Given the description of an element on the screen output the (x, y) to click on. 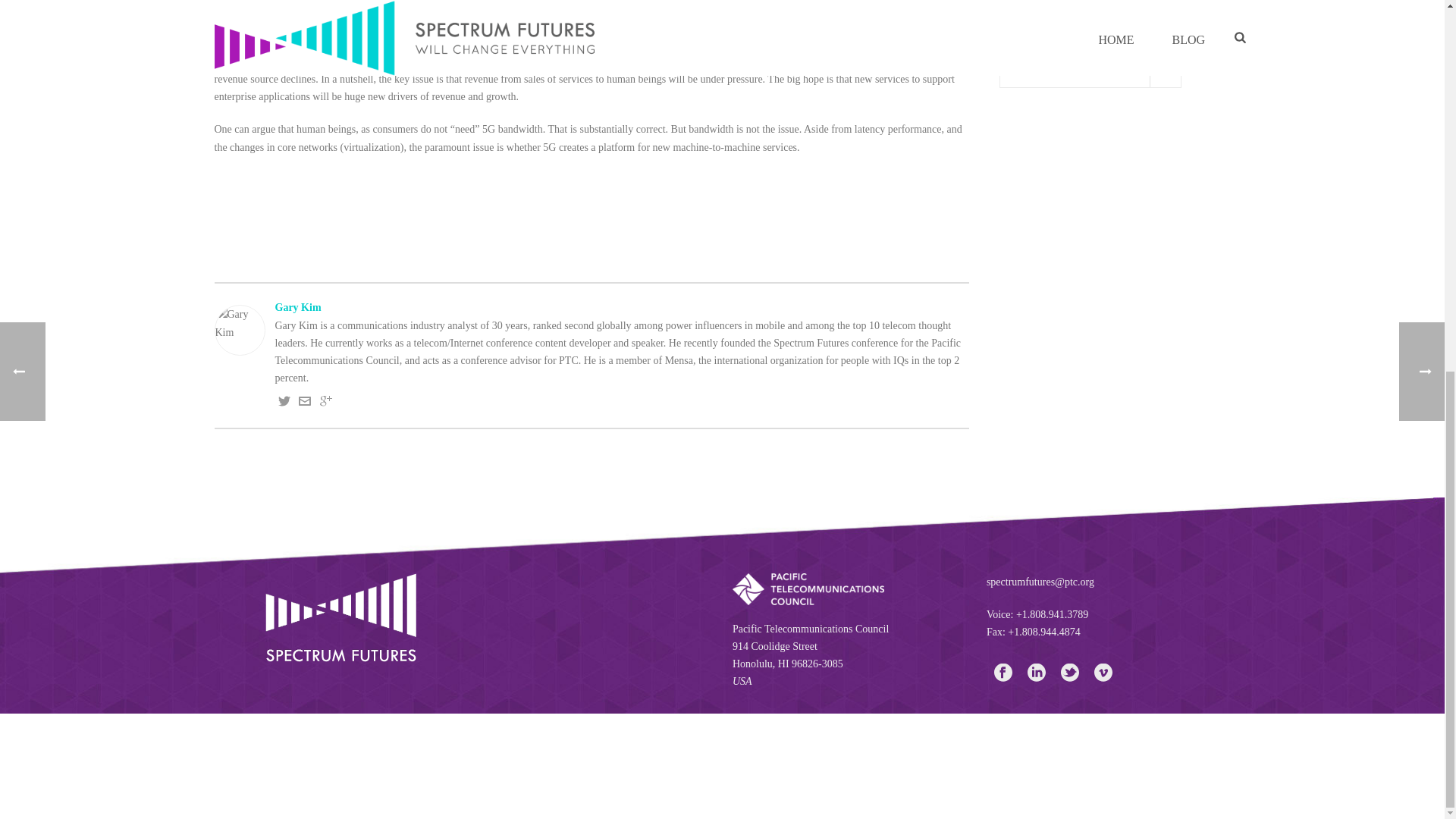
Follow Us on linkedin (1036, 673)
Gary Kim (591, 307)
Follow me on Twitter (283, 403)
Get in touch with me via email (304, 403)
